Given the description of an element on the screen output the (x, y) to click on. 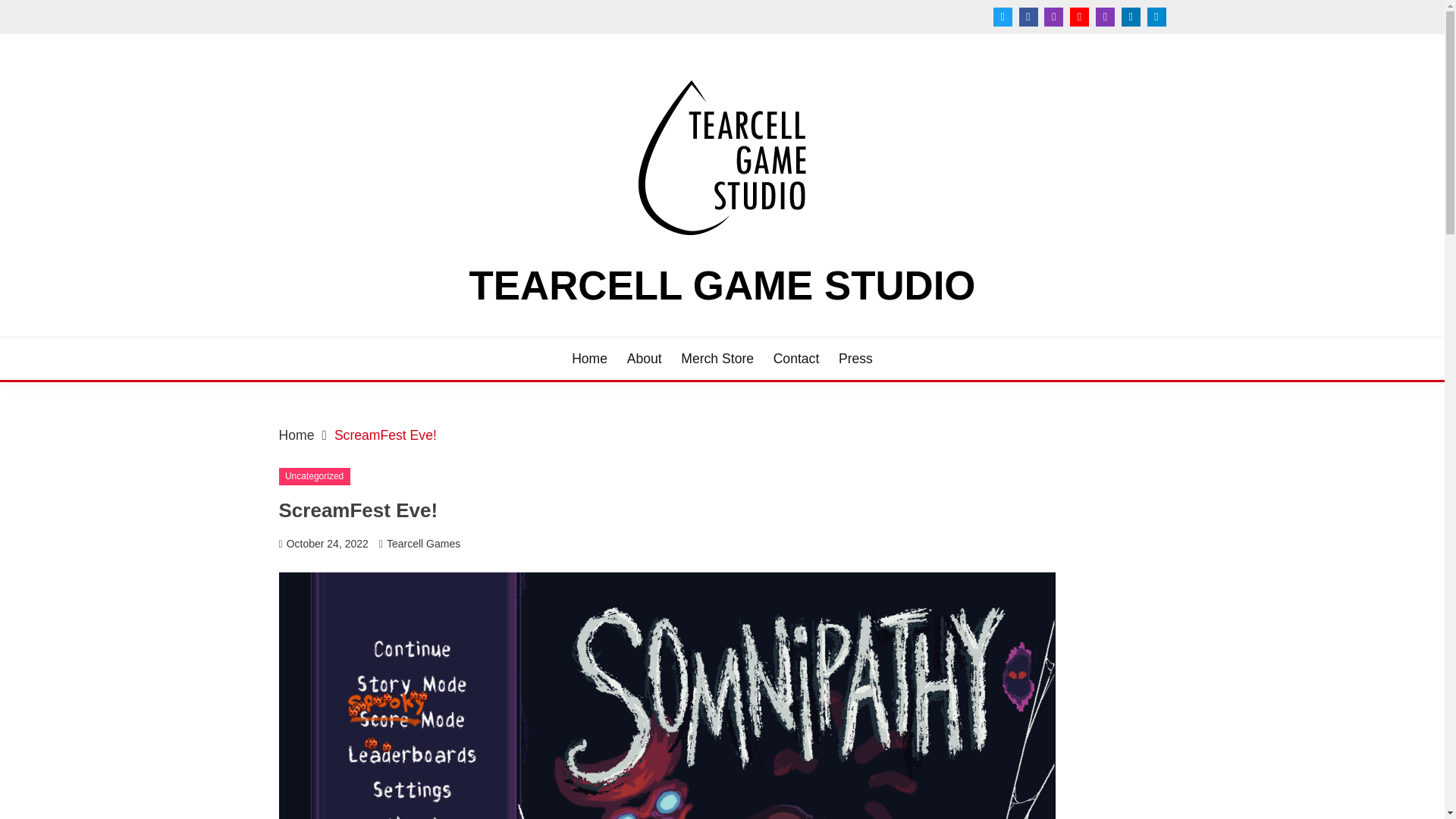
Contact (796, 358)
Facebook (1028, 16)
October 24, 2022 (327, 543)
Merch Store (717, 358)
Twitch (1105, 16)
TikTok (1156, 16)
Uncategorized (314, 476)
LinkedIn (1130, 16)
TEARCELL GAME STUDIO (721, 284)
Home (296, 435)
Press (855, 358)
Tearcell Games (423, 543)
About (644, 358)
Twitter (1001, 16)
YouTube (1079, 16)
